Given the description of an element on the screen output the (x, y) to click on. 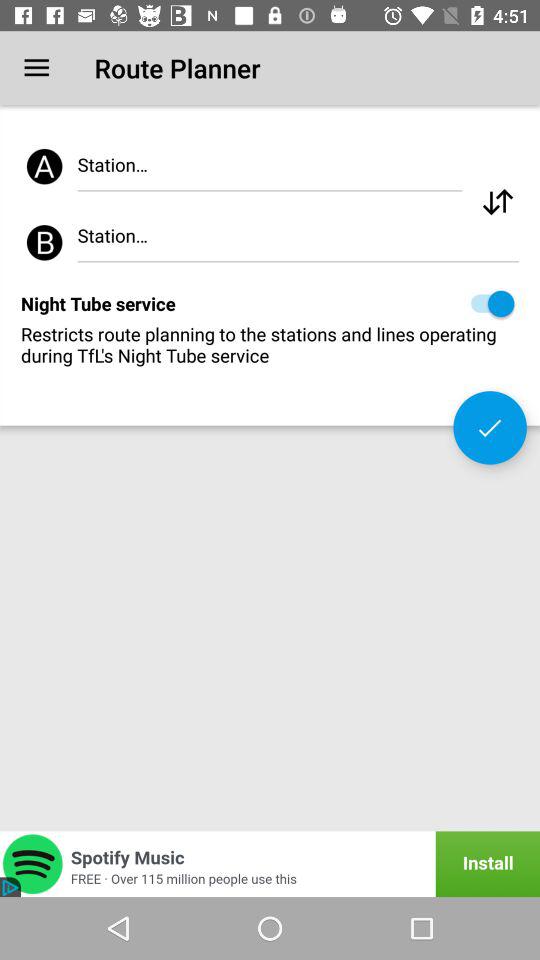
launch the icon below restricts route planning icon (489, 427)
